Given the description of an element on the screen output the (x, y) to click on. 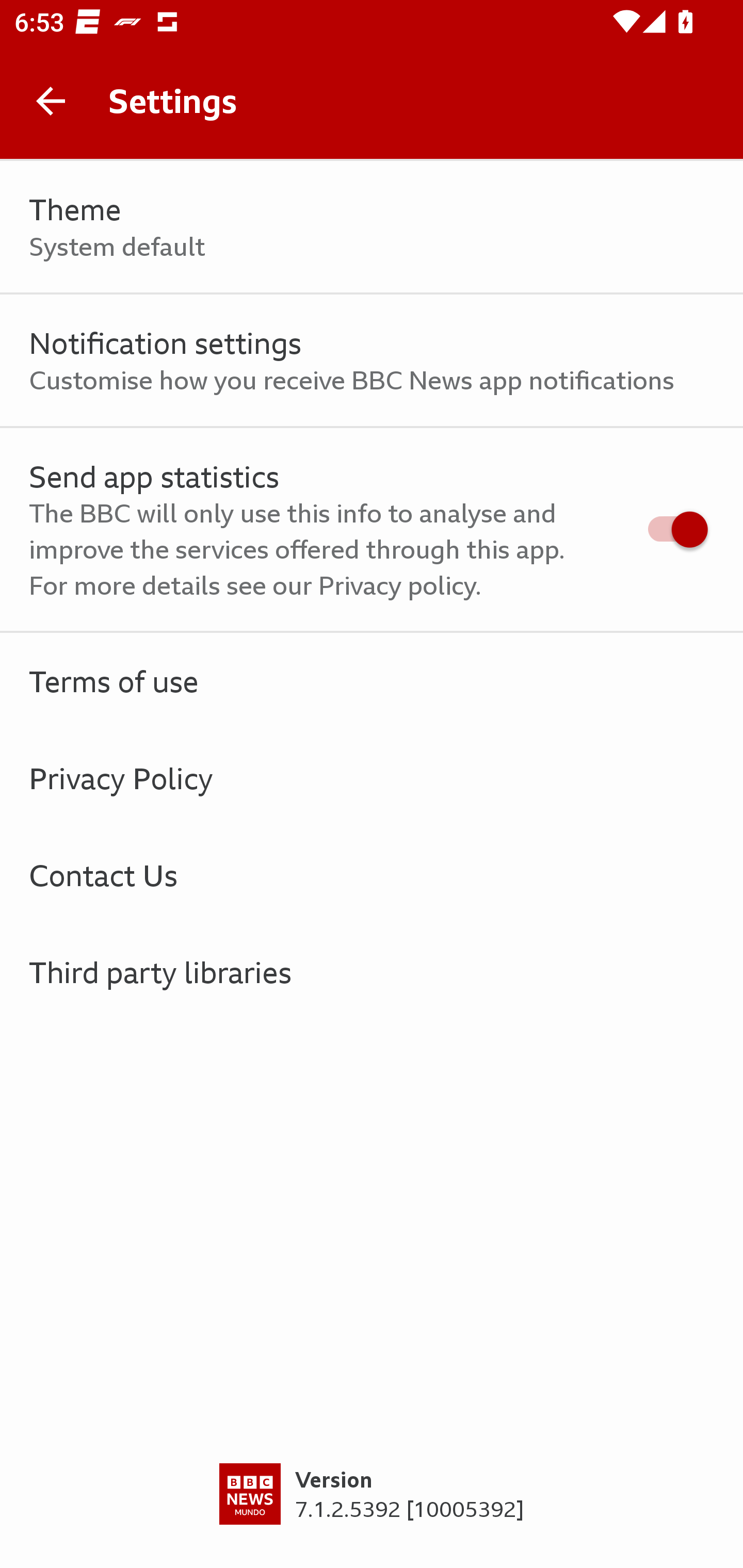
Back (50, 101)
Theme System default (371, 227)
Terms of use (371, 681)
Privacy Policy (371, 777)
Contact Us (371, 874)
Third party libraries (371, 971)
Version 7.1.2.5392 [10005392] (371, 1515)
